Given the description of an element on the screen output the (x, y) to click on. 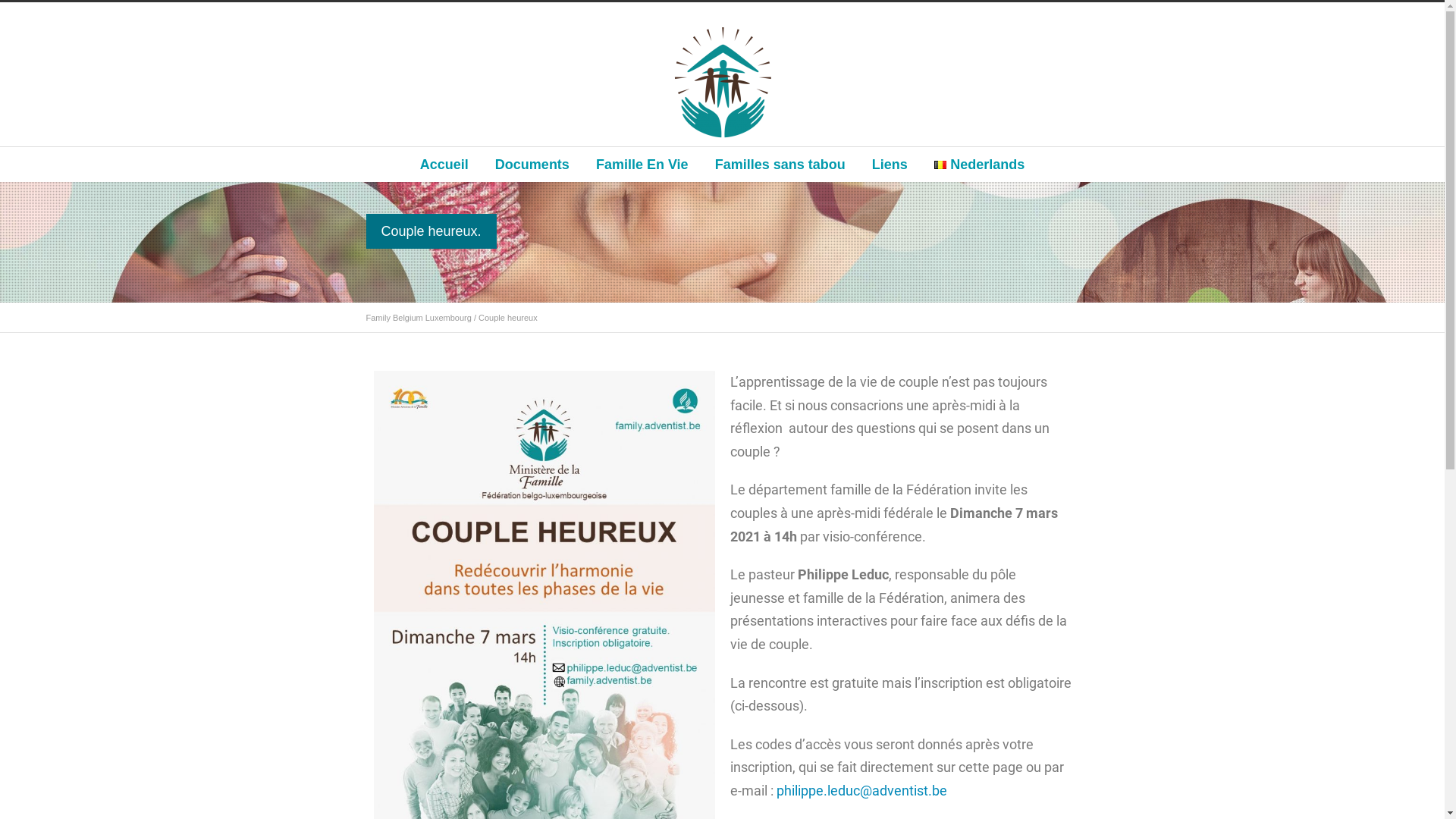
Nederlands Element type: text (979, 164)
Famille En Vie Element type: text (642, 164)
Family Belgium Luxembourg Element type: text (417, 317)
philippe.leduc@adventist.be Element type: text (861, 790)
Accueil Element type: text (444, 164)
Familles sans tabou Element type: text (780, 164)
Documents Element type: text (532, 164)
Liens Element type: text (889, 164)
